Given the description of an element on the screen output the (x, y) to click on. 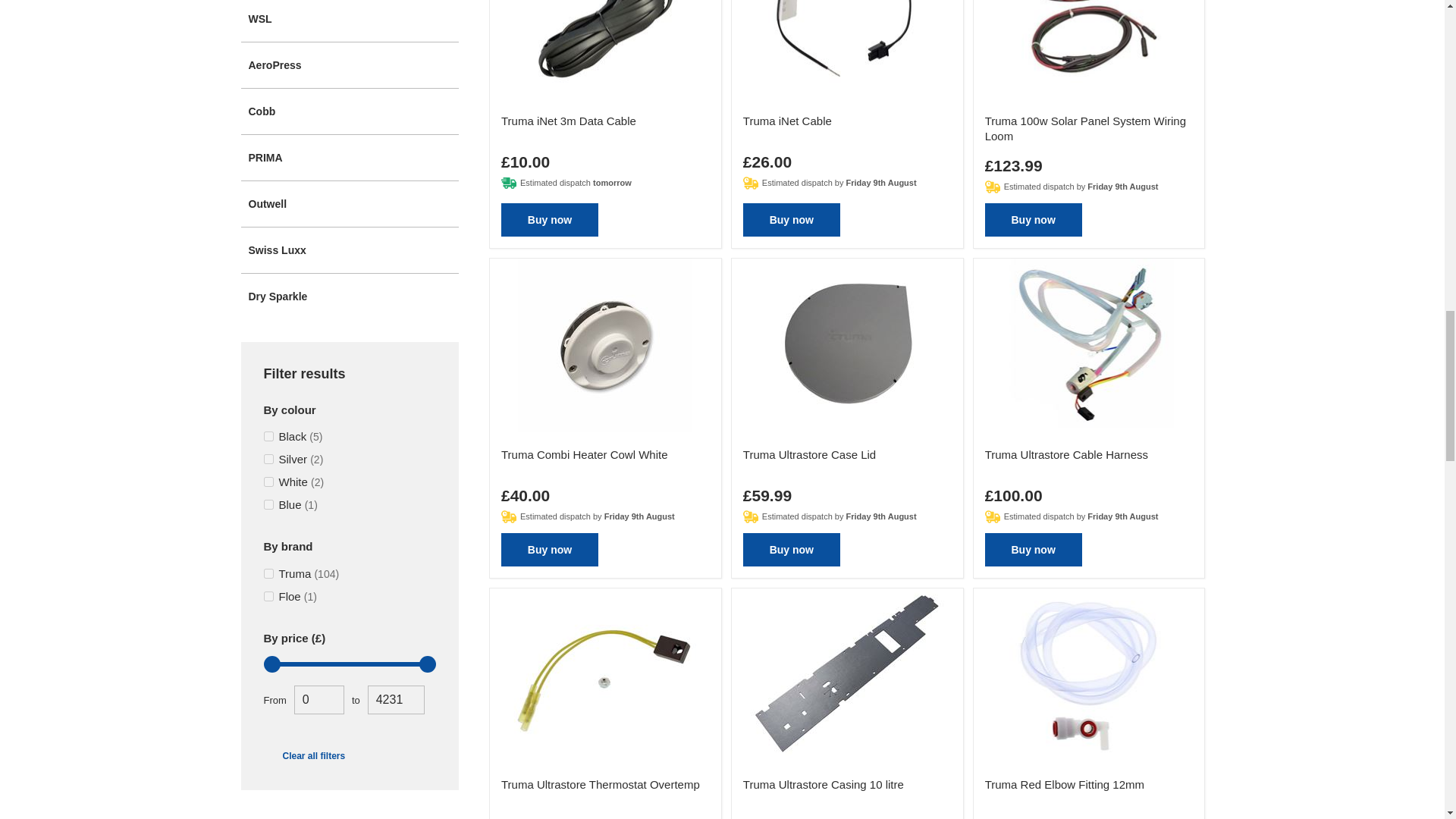
White (268, 481)
Black (268, 436)
Blue (268, 504)
Truma (268, 573)
4231 (396, 699)
0 (318, 699)
Silver (268, 459)
Floe (268, 596)
